Given the description of an element on the screen output the (x, y) to click on. 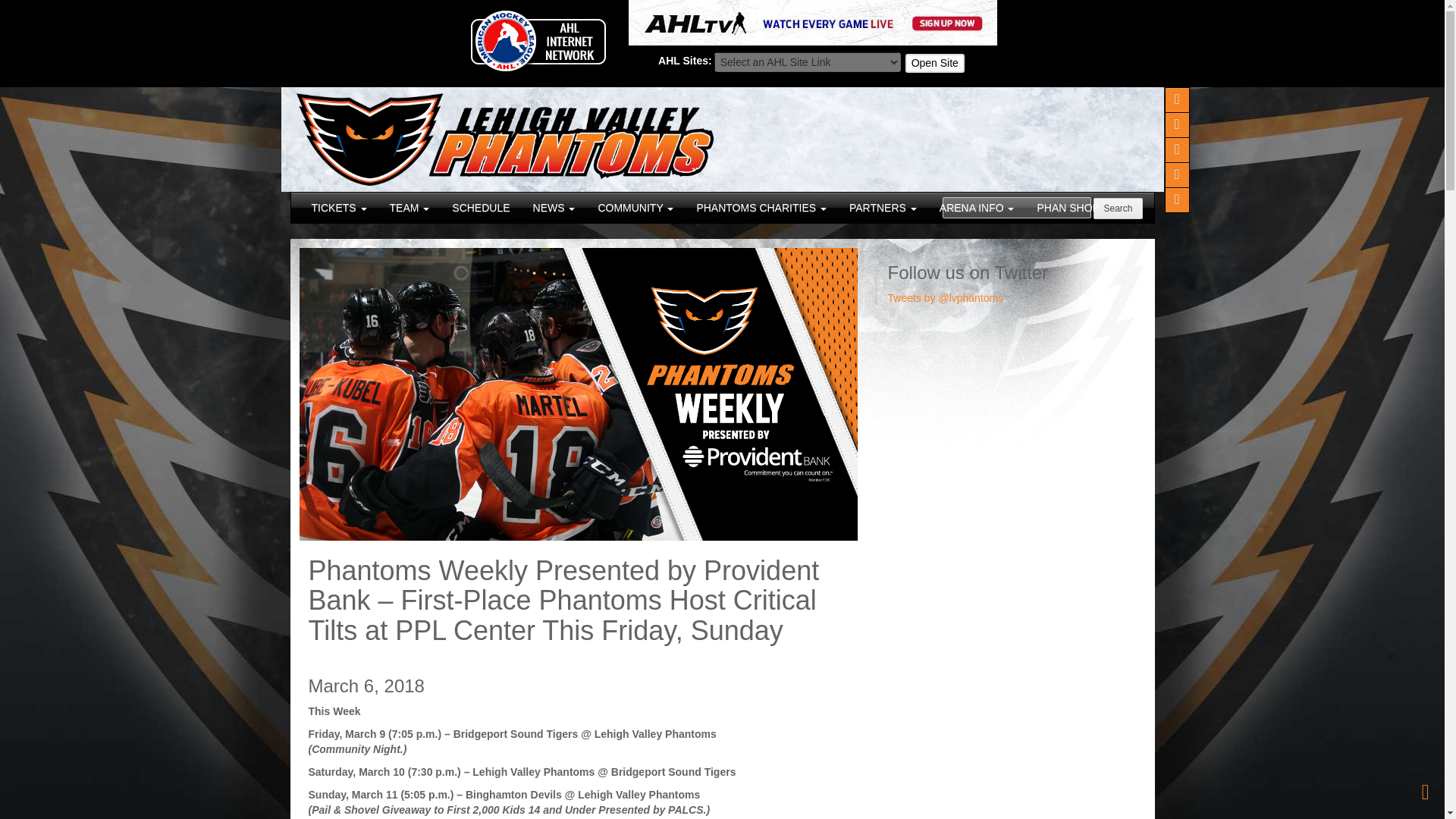
Team (409, 207)
Open Site (934, 62)
Opens American Hockey League site in a new tab (536, 40)
Tickets (338, 207)
Open selected site in a new tab (934, 62)
Search (1117, 208)
Opens AHLTV in a new tab (811, 21)
TICKETS (338, 207)
TEAM (409, 207)
Search (1117, 208)
